Given the description of an element on the screen output the (x, y) to click on. 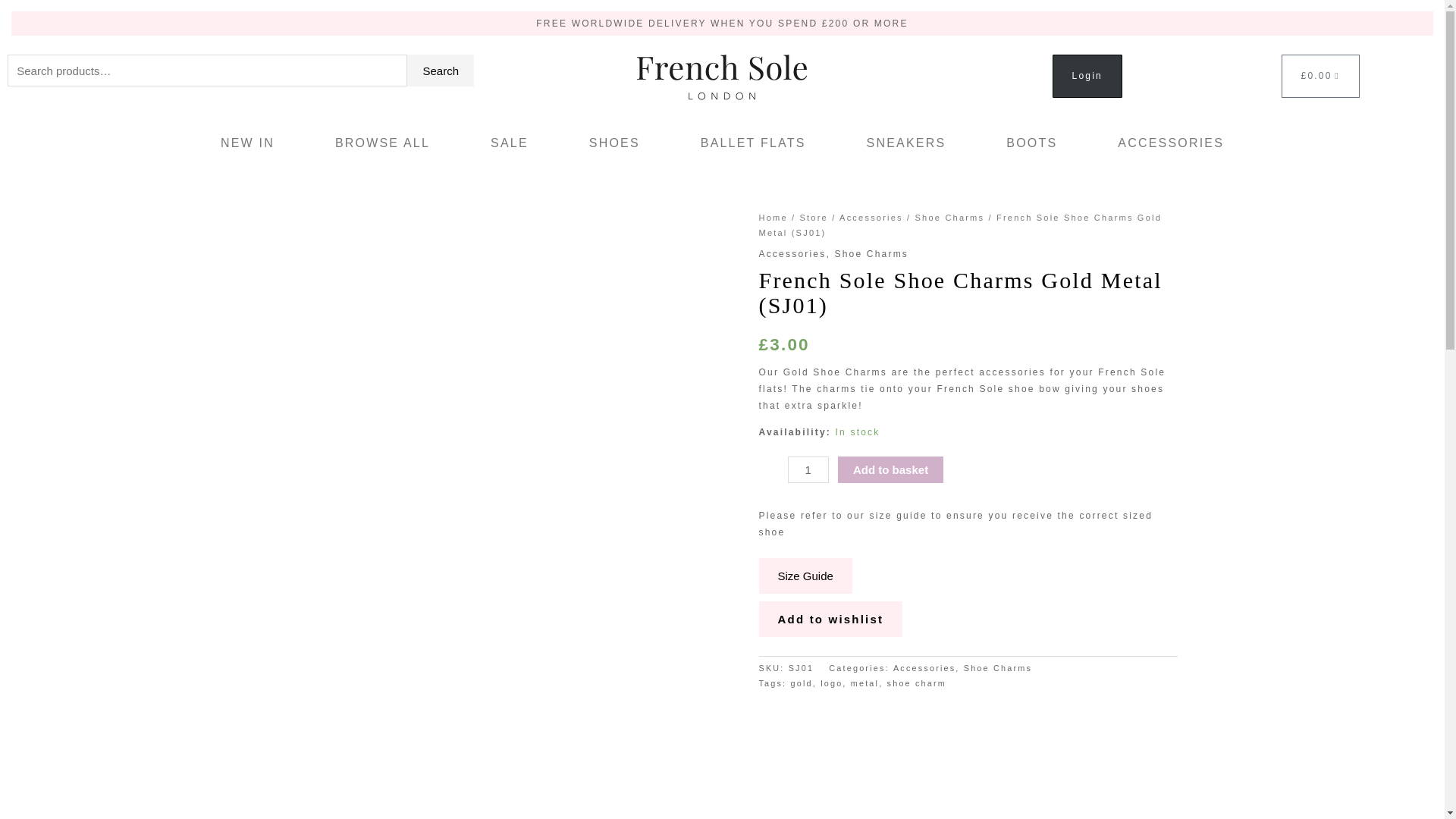
SALE (509, 143)
gold (801, 682)
1 (807, 469)
SHOES (614, 143)
Store (813, 216)
Accessories (924, 667)
ACCESSORIES (1170, 143)
Accessories (871, 216)
fs-logo-new (722, 76)
Shoe Charms (997, 667)
Shoe Charms (950, 216)
shoe charm (916, 682)
metal (864, 682)
BOOTS (1031, 143)
Home (772, 216)
